Given the description of an element on the screen output the (x, y) to click on. 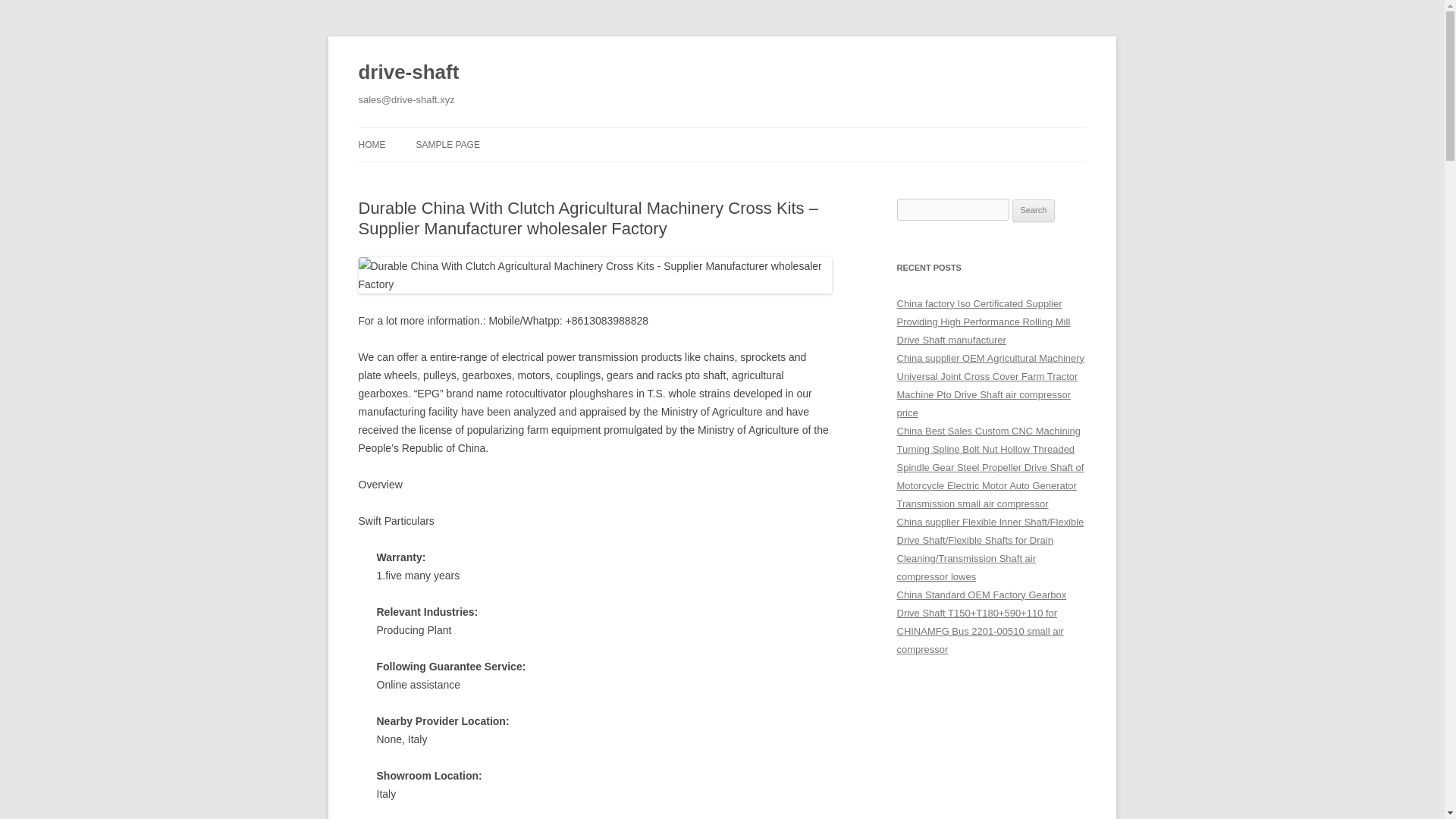
Search (1033, 210)
SAMPLE PAGE (446, 144)
Search (1033, 210)
drive-shaft (408, 72)
drive-shaft (408, 72)
